Given the description of an element on the screen output the (x, y) to click on. 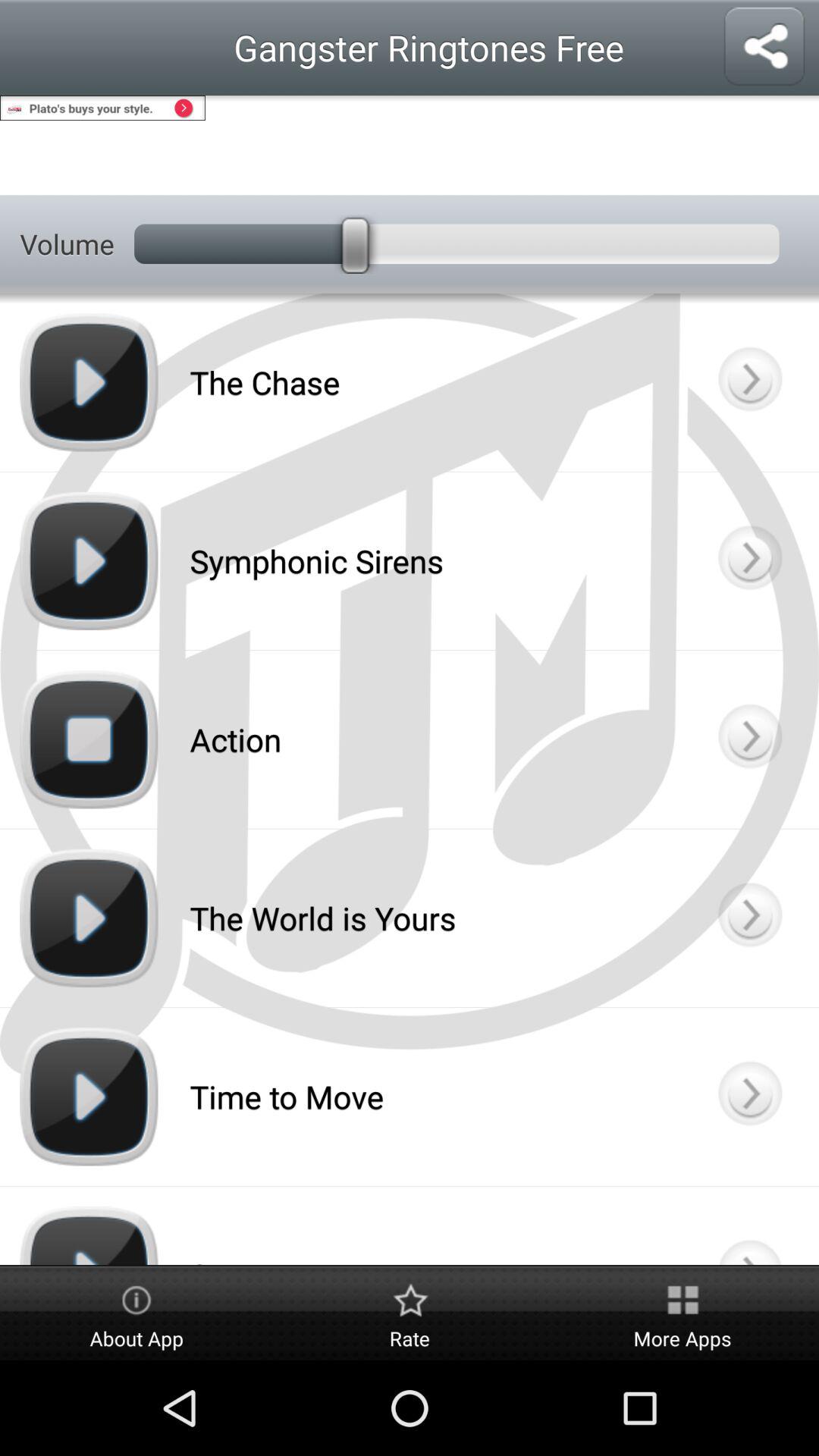
show track details (749, 1225)
